Given the description of an element on the screen output the (x, y) to click on. 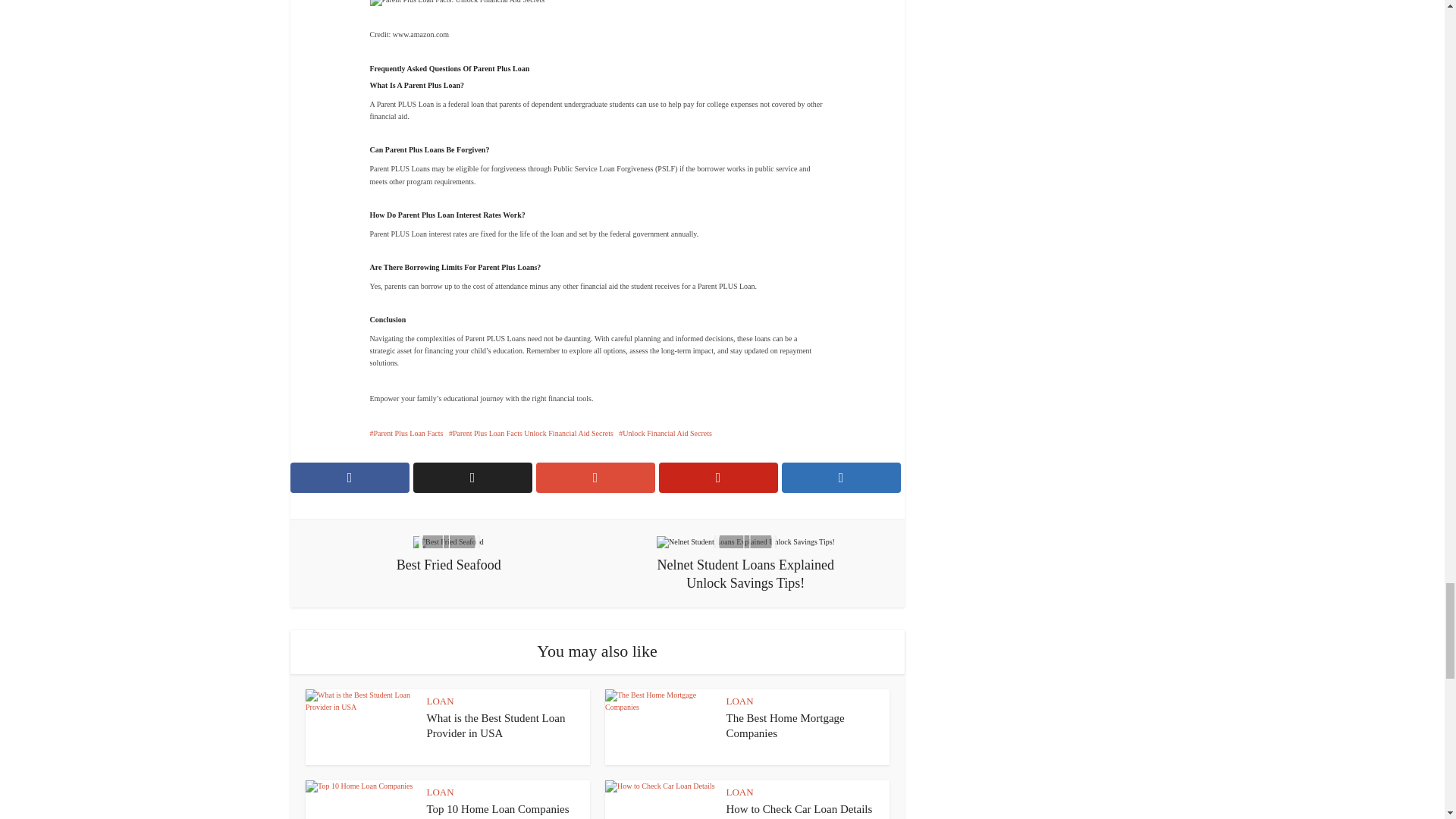
Parent Plus Loan Facts Unlock Financial Aid Secrets (530, 433)
Parent Plus Loan Facts (406, 433)
The Best Home Mortgage Companies (785, 725)
What is the Best Student Loan Provider in USA (495, 725)
Top 10 Home Loan Companies (497, 808)
How to Check Car Loan Details (799, 808)
